Given the description of an element on the screen output the (x, y) to click on. 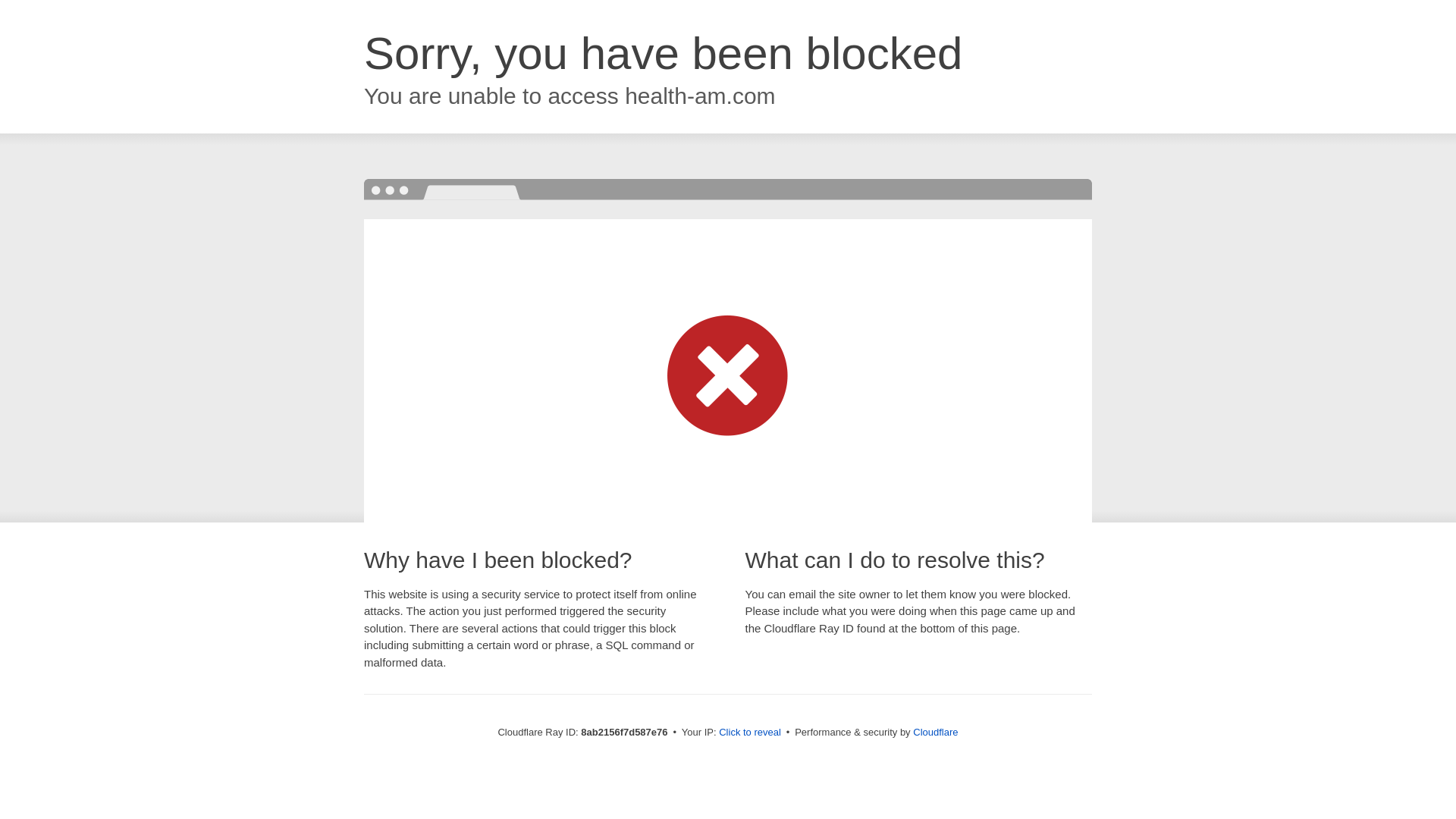
Click to reveal (749, 732)
Cloudflare (935, 731)
